Given the description of an element on the screen output the (x, y) to click on. 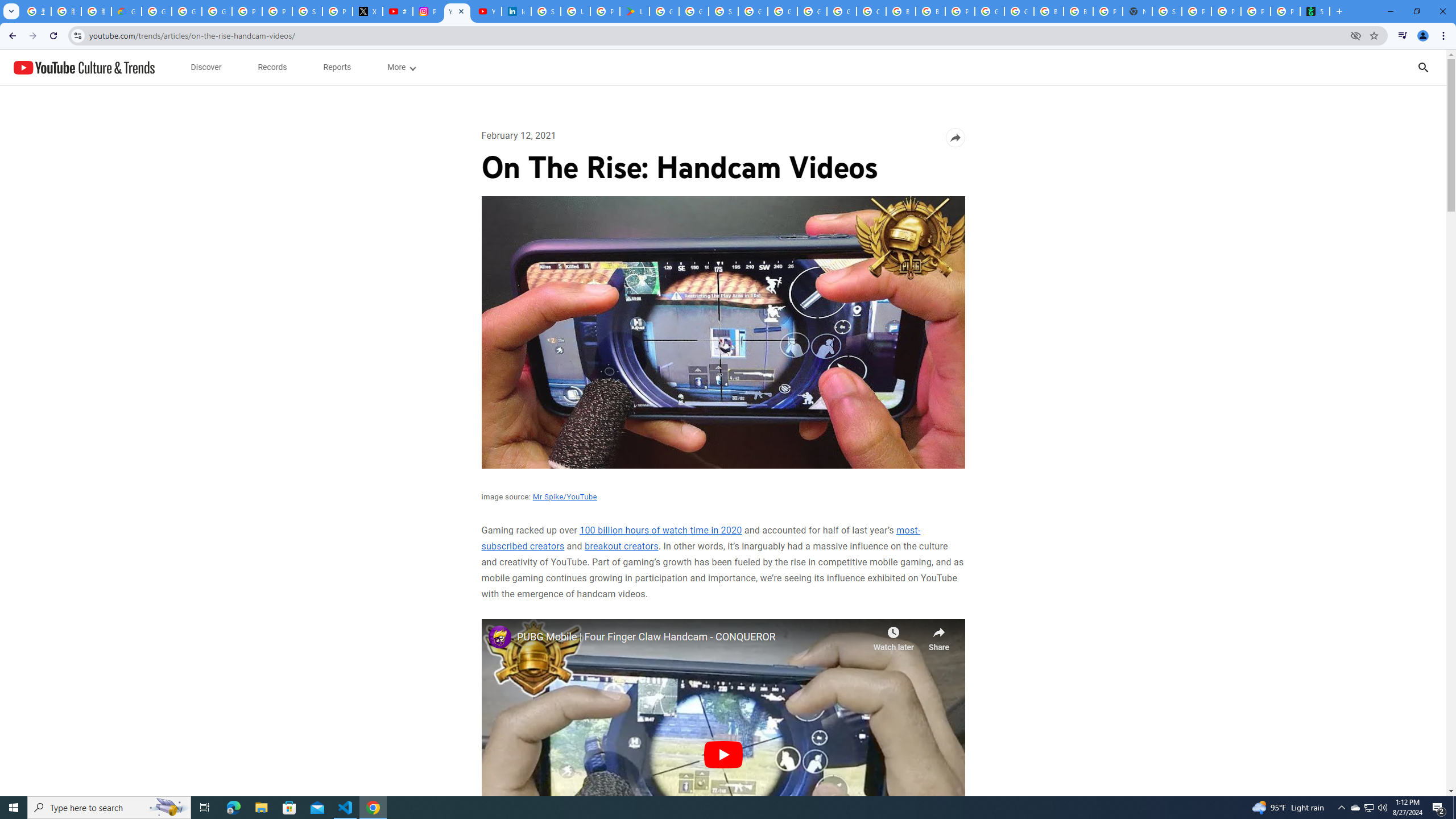
Privacy Checkup (1255, 11)
PUBG Mobile | Four Finger Claw Handcam - CONQUEROR (691, 636)
Browse Chrome as a guest - Computer - Google Chrome Help (900, 11)
subnav-Reports menupopup (336, 67)
YouTube Culture & Trends - On The Rise: Handcam Videos (456, 11)
Google Cloud Platform (1018, 11)
Sign in - Google Accounts (306, 11)
